Given the description of an element on the screen output the (x, y) to click on. 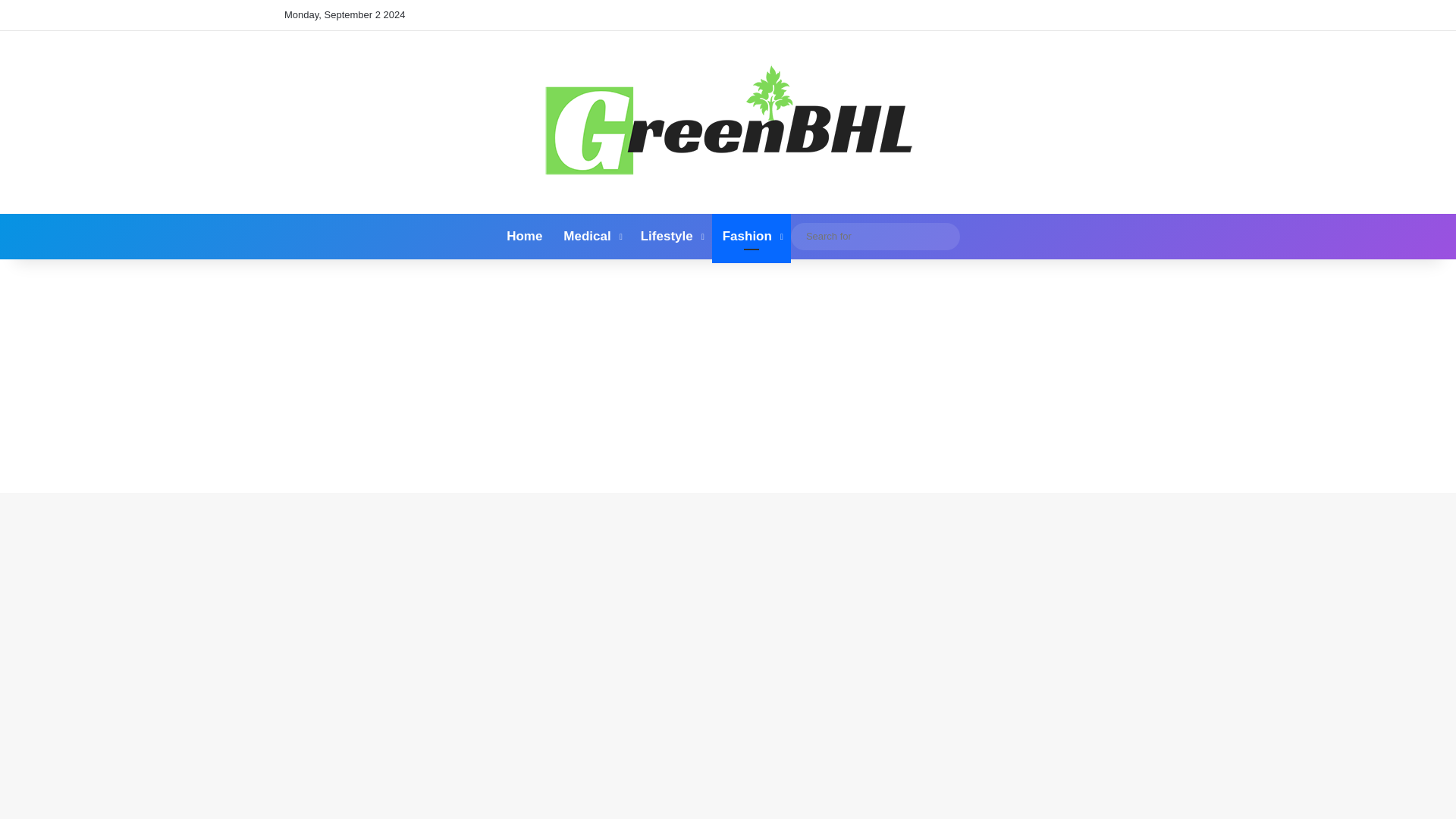
Medical (590, 236)
Search for (874, 235)
GreenBHL (727, 122)
Fashion (750, 236)
Lifestyle (670, 236)
Home (524, 236)
Search for (944, 236)
